Given the description of an element on the screen output the (x, y) to click on. 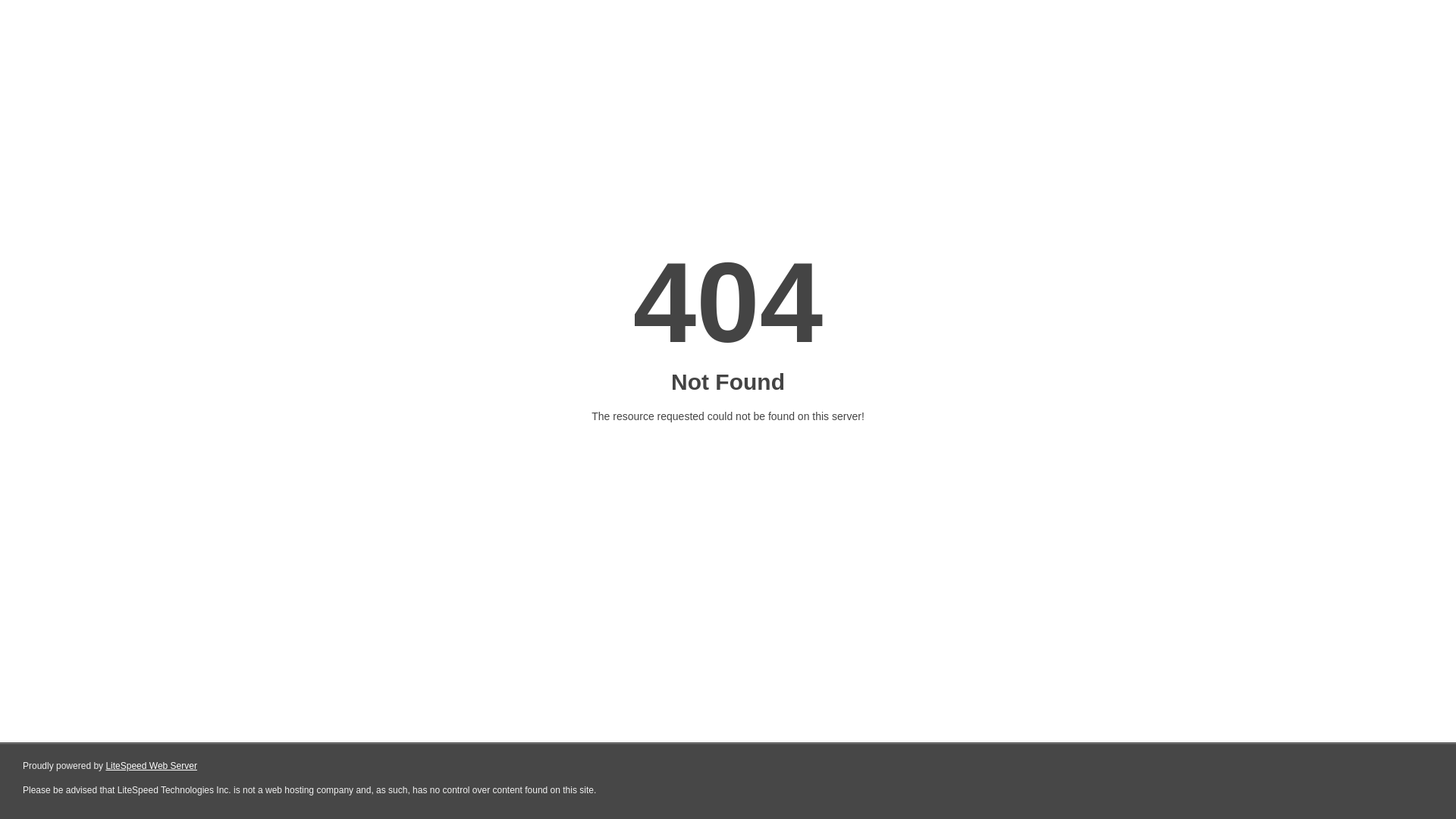
LiteSpeed Web Server Element type: text (151, 765)
